Given the description of an element on the screen output the (x, y) to click on. 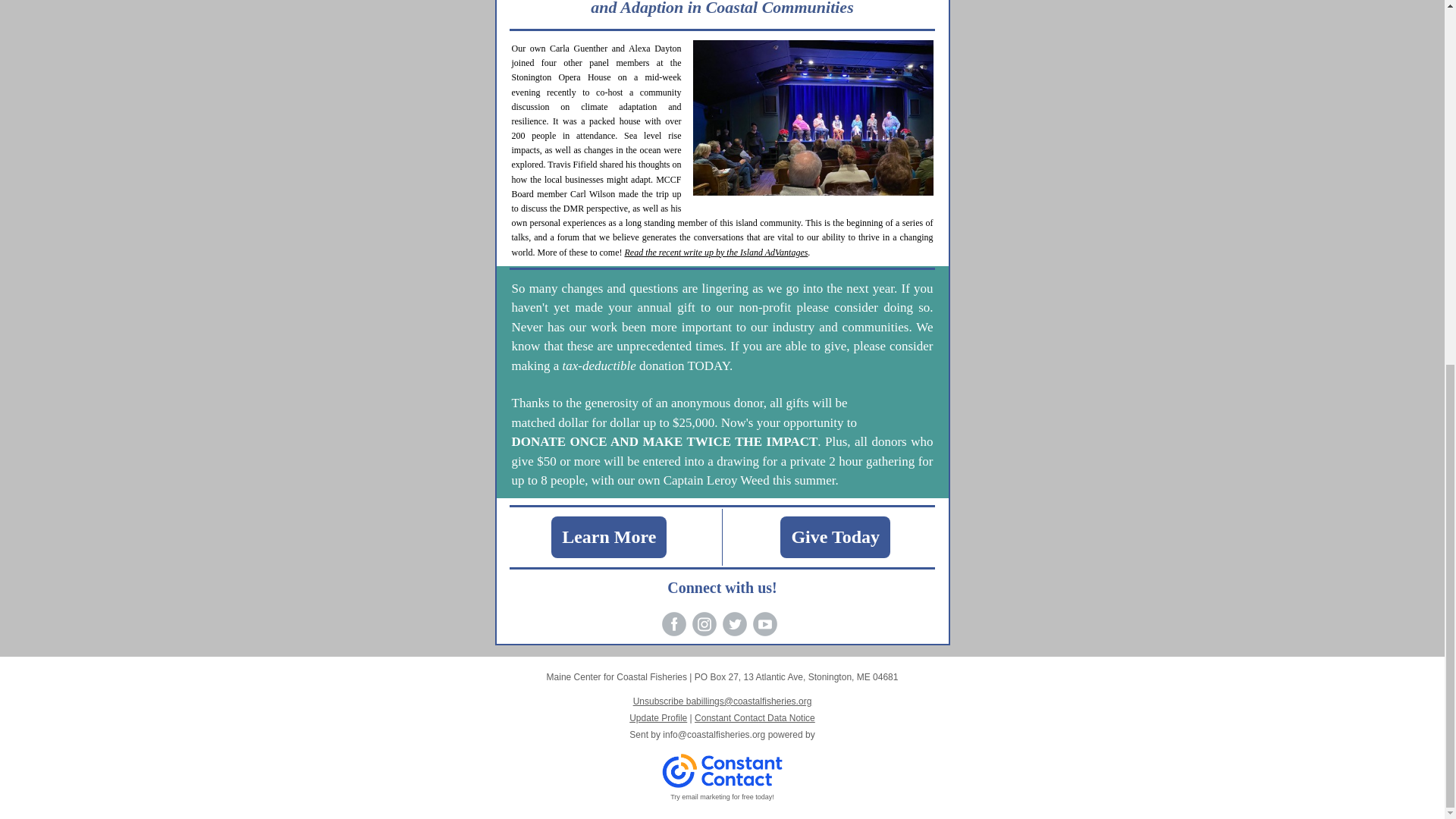
Constant Contact Data Notice (754, 717)
Learn More (609, 537)
Try email marketing for free today! (721, 796)
Read the recent write up by the Island AdVantages (716, 252)
Update Profile (657, 717)
Give Today (834, 537)
